Given the description of an element on the screen output the (x, y) to click on. 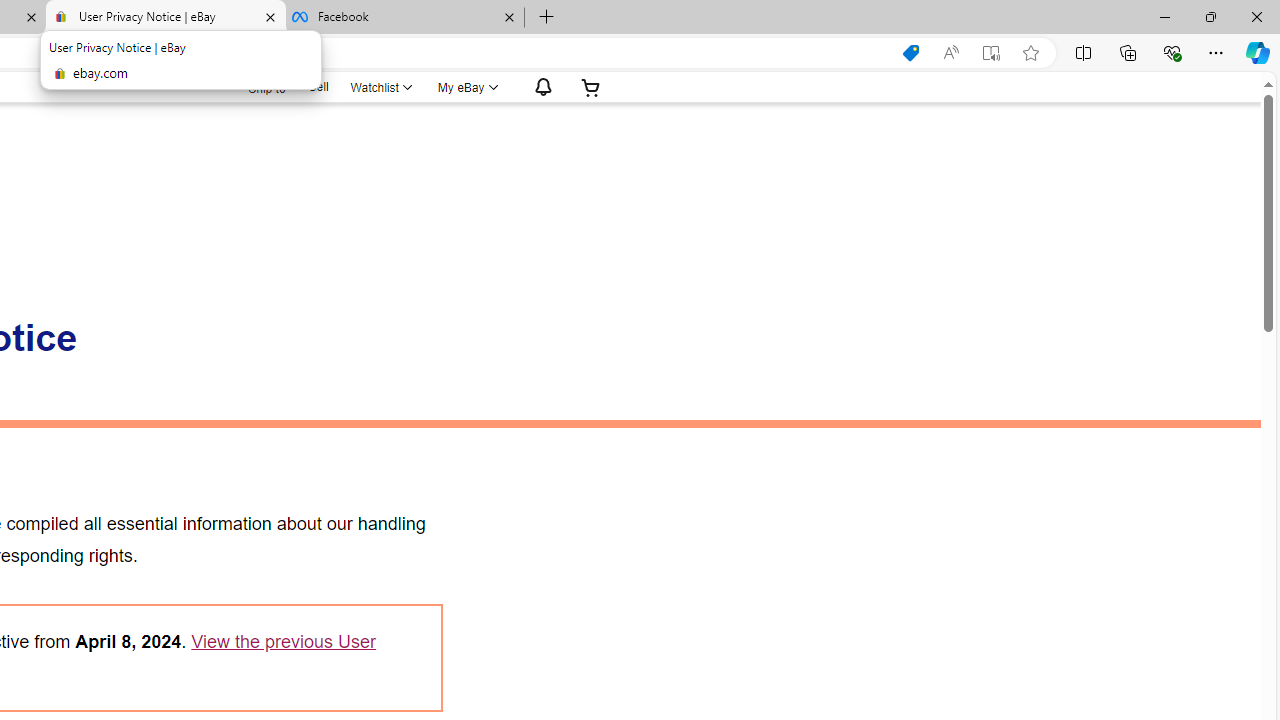
Enter Immersive Reader (F9) (991, 53)
My eBayExpand My eBay (466, 87)
Expand Cart (591, 87)
Notifications (538, 87)
Your shopping cart (591, 87)
User Privacy Notice | eBay (166, 17)
Ship to (253, 85)
Watchlist (380, 87)
AutomationID: gh-eb-Alerts (540, 87)
